Given the description of an element on the screen output the (x, y) to click on. 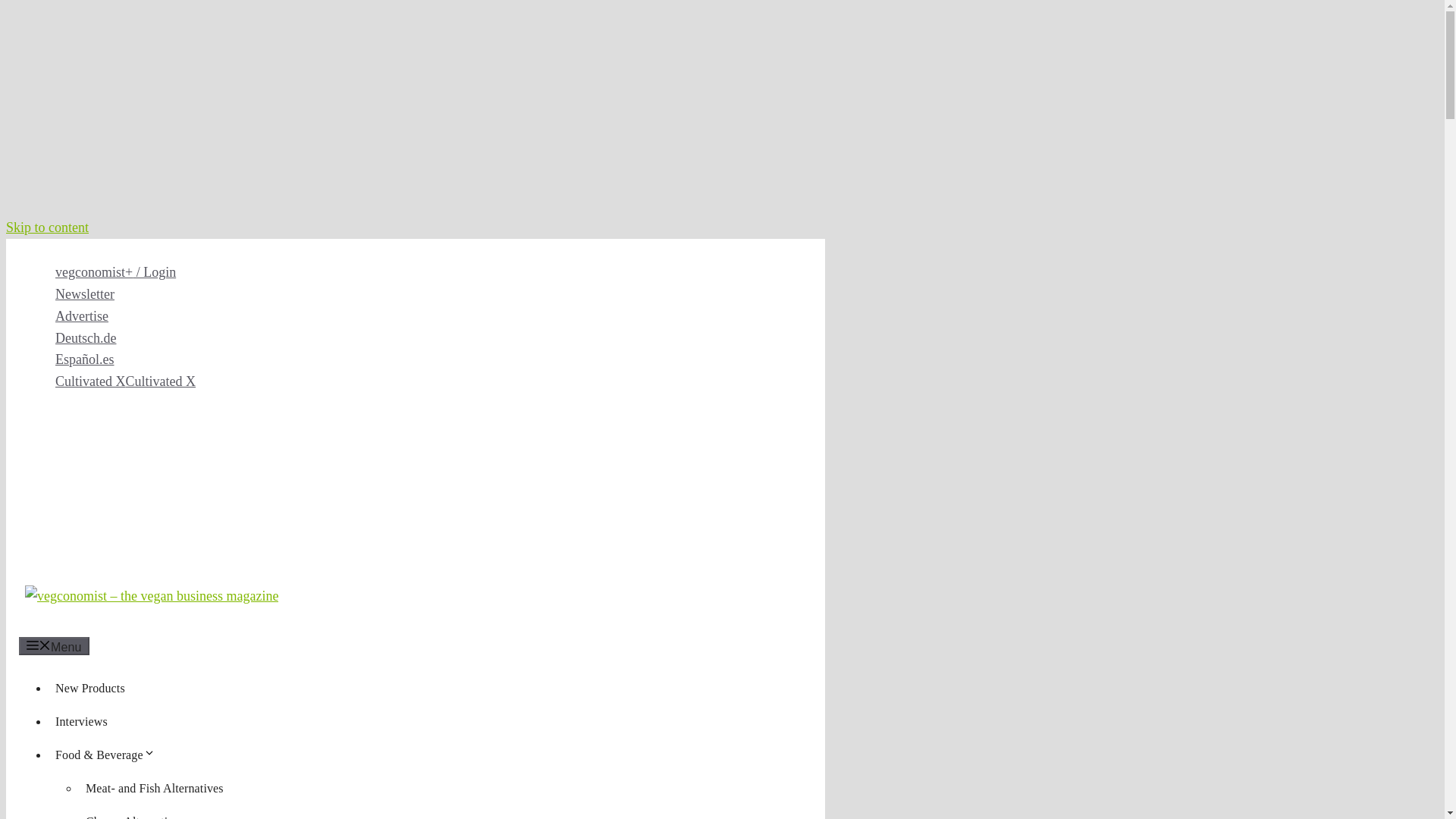
New Products (90, 687)
Cheese Alternatives (135, 814)
Newsletter (85, 294)
Cultivated XCultivated X (125, 381)
Deutsch.de (85, 337)
Skip to content (46, 227)
Menu (53, 646)
Advertise (81, 315)
Skip to content (46, 227)
Interviews (81, 721)
Meat- and Fish Alternatives (155, 788)
